Given the description of an element on the screen output the (x, y) to click on. 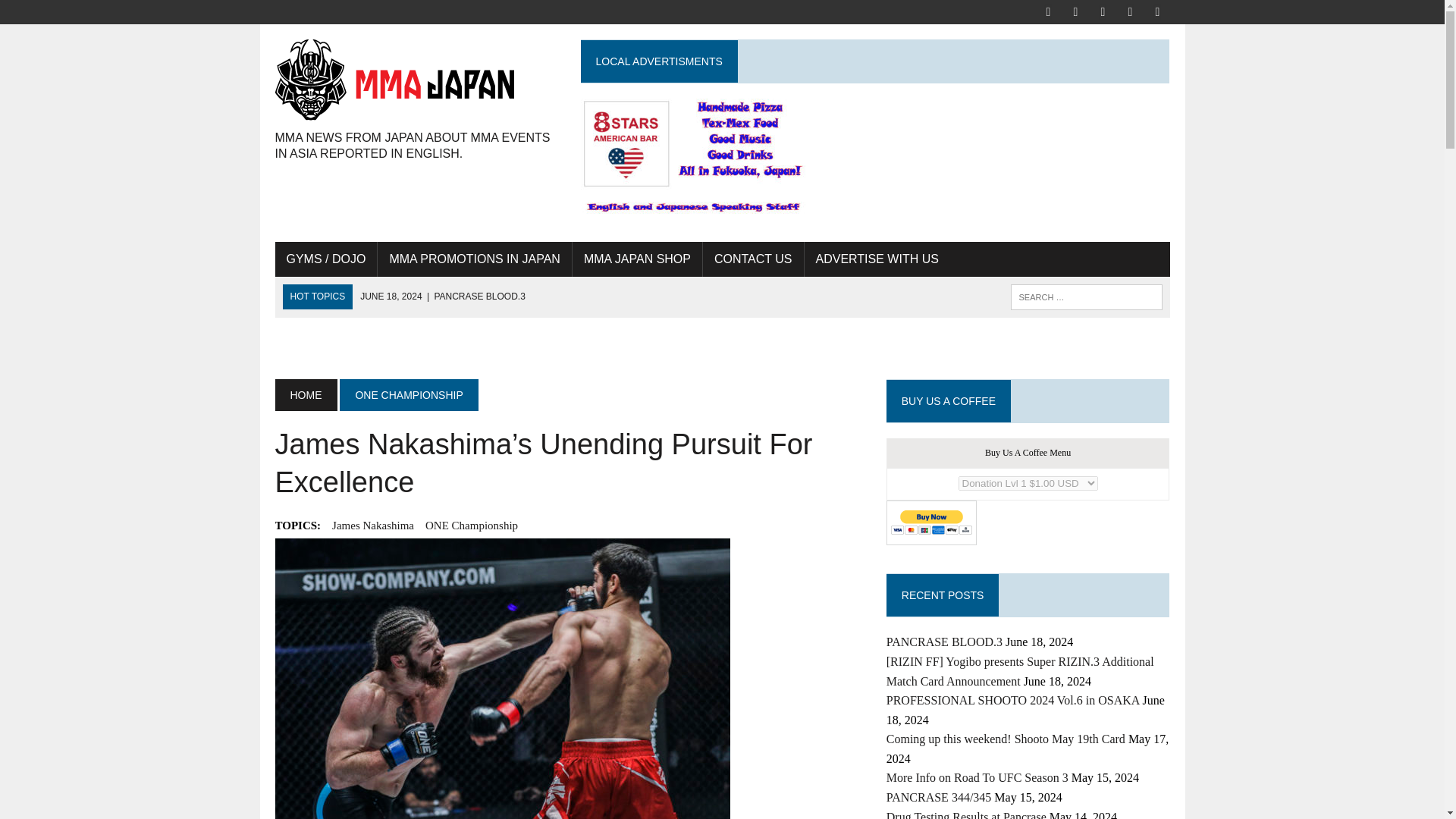
Search (75, 14)
MMA JAPAN SHOP (636, 258)
ONE CHAMPIONSHIP (408, 395)
ADVERTISE WITH US (876, 258)
James Nakashima (372, 525)
CONTACT US (753, 258)
HOME (305, 395)
PANCRASE BLOOD.3 (442, 296)
ONE Championship (471, 525)
